Given the description of an element on the screen output the (x, y) to click on. 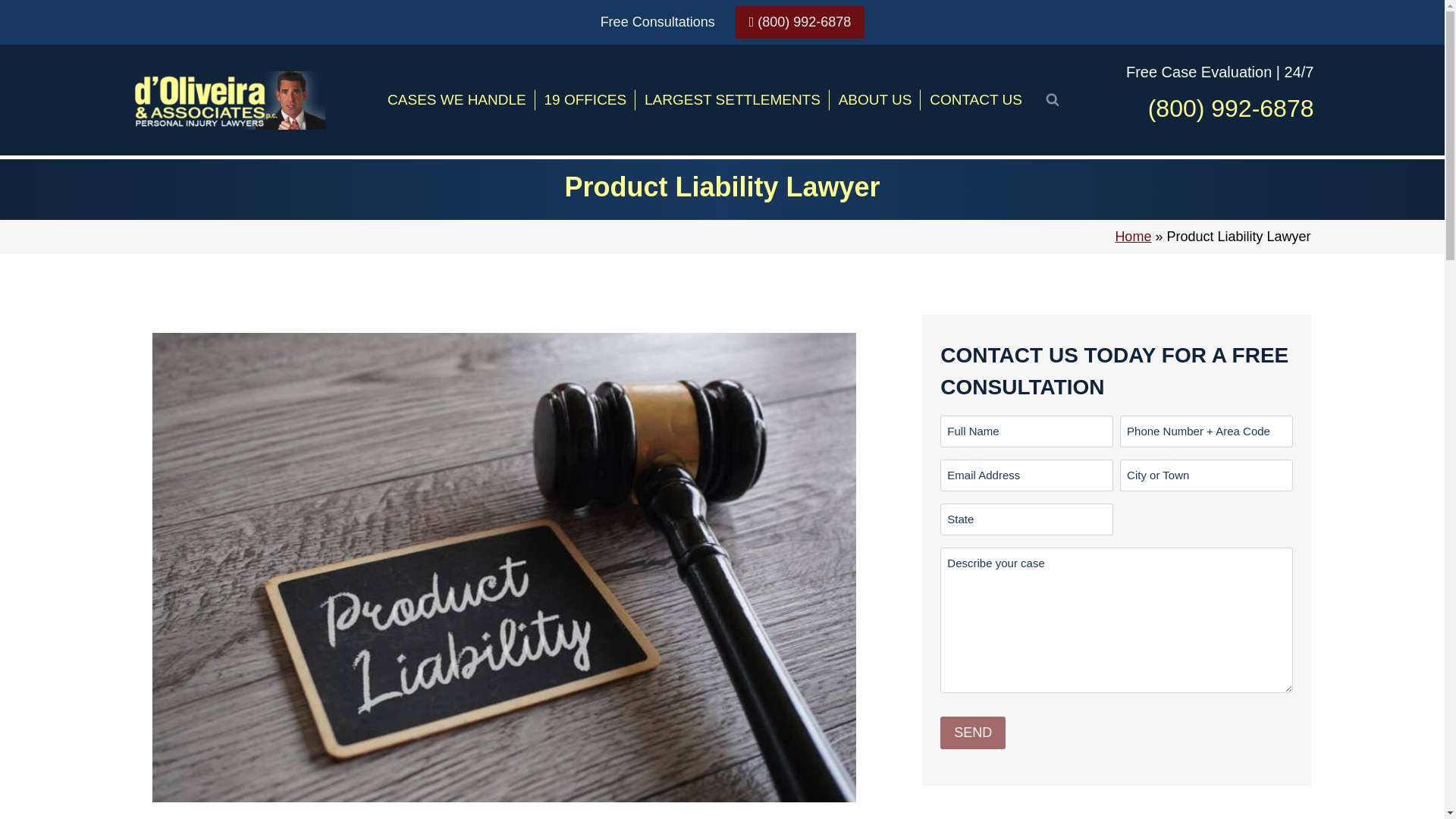
19 OFFICES (585, 100)
CASES WE HANDLE (456, 100)
SEND (973, 732)
LARGEST SETTLEMENTS (731, 100)
ABOUT US (875, 100)
CONTACT US (975, 100)
SEND (973, 732)
Home (1133, 236)
